Given the description of an element on the screen output the (x, y) to click on. 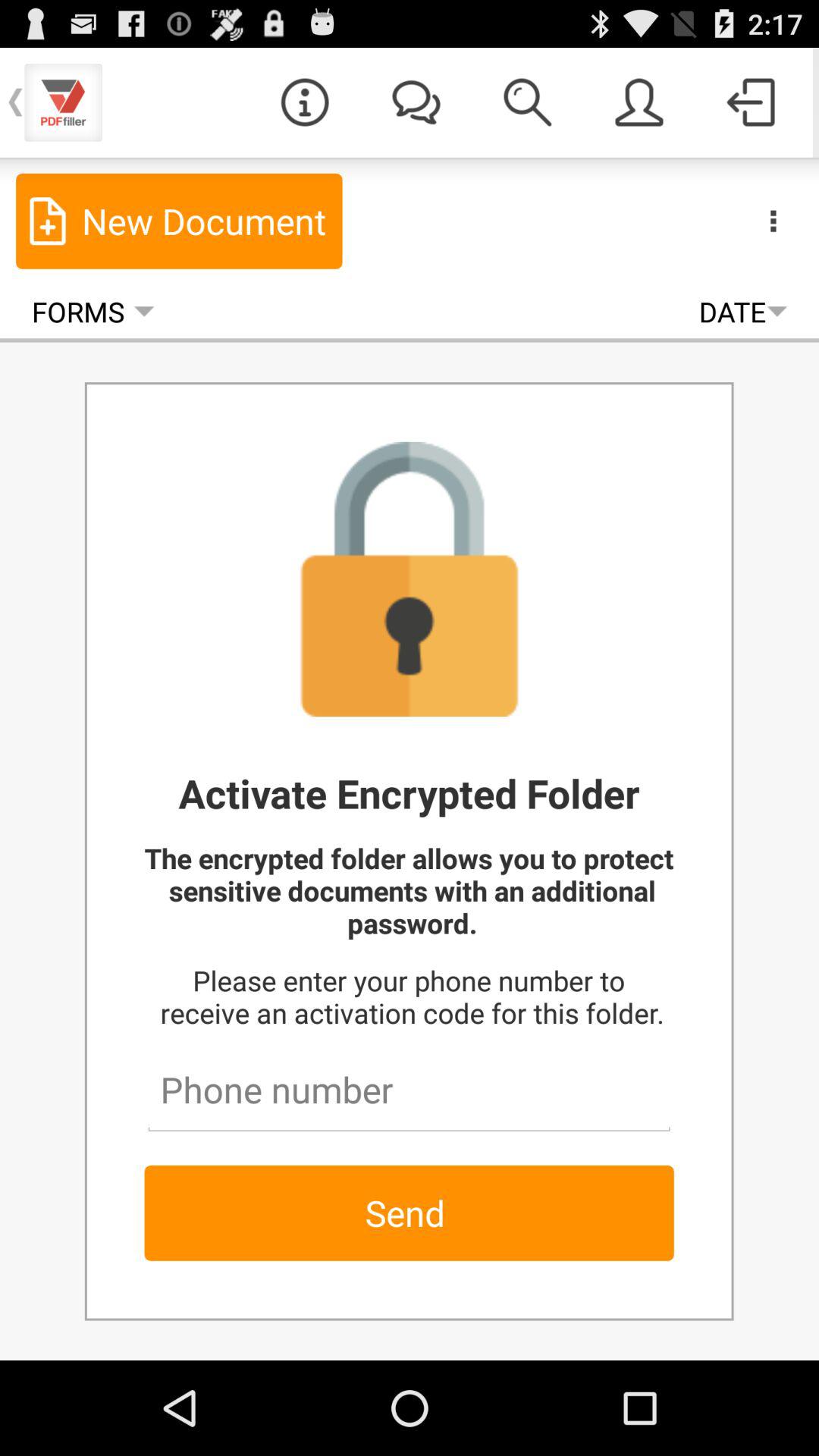
launch item above forms	 icon (178, 221)
